Given the description of an element on the screen output the (x, y) to click on. 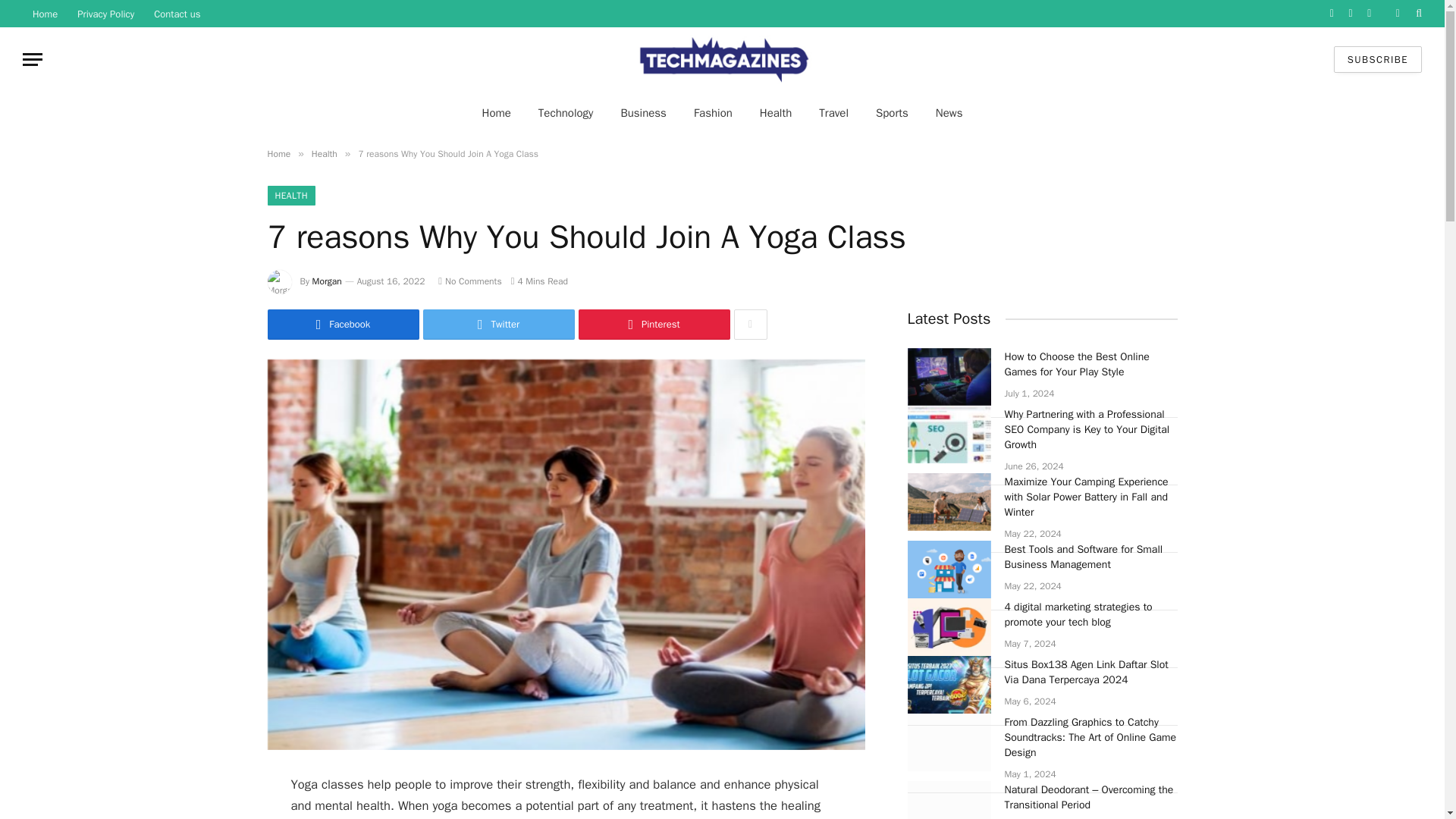
Home (277, 153)
Fashion (712, 112)
Business (643, 112)
Health (775, 112)
Posts by Morgan (327, 281)
Health (324, 153)
News (948, 112)
Privacy Policy (105, 13)
SUBSCRIBE (1377, 58)
Travel (833, 112)
HEALTH (290, 195)
Switch to Dark Design - easier on eyes. (1397, 13)
Technology (565, 112)
Home (44, 13)
Techmagazines.org (721, 59)
